Given the description of an element on the screen output the (x, y) to click on. 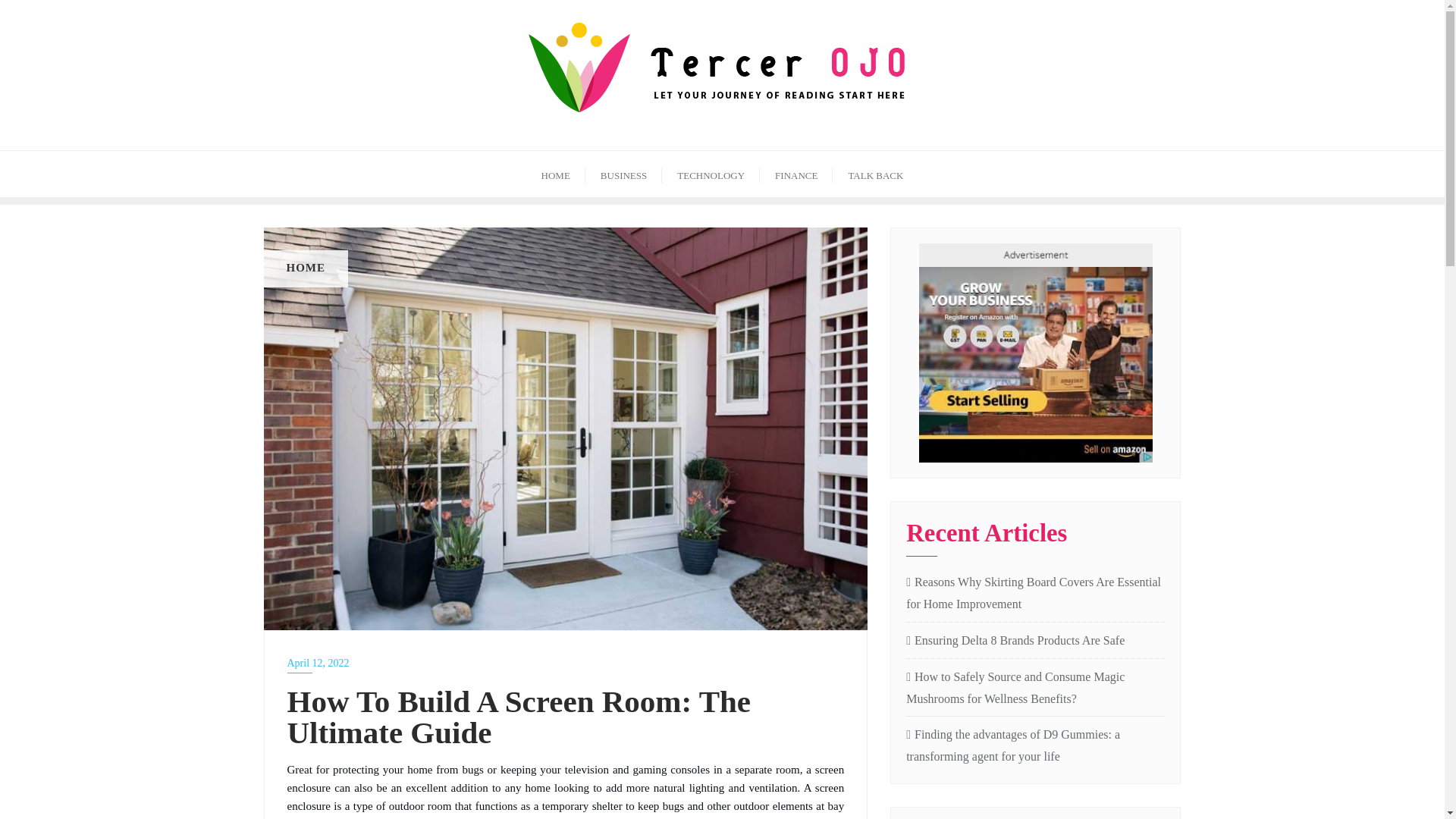
April 12, 2022 (565, 662)
TECHNOLOGY (711, 173)
FINANCE (796, 173)
BUSINESS (623, 173)
Ensuring Delta 8 Brands Products Are Safe (1034, 640)
TALK BACK (875, 173)
HOME (555, 173)
